Given the description of an element on the screen output the (x, y) to click on. 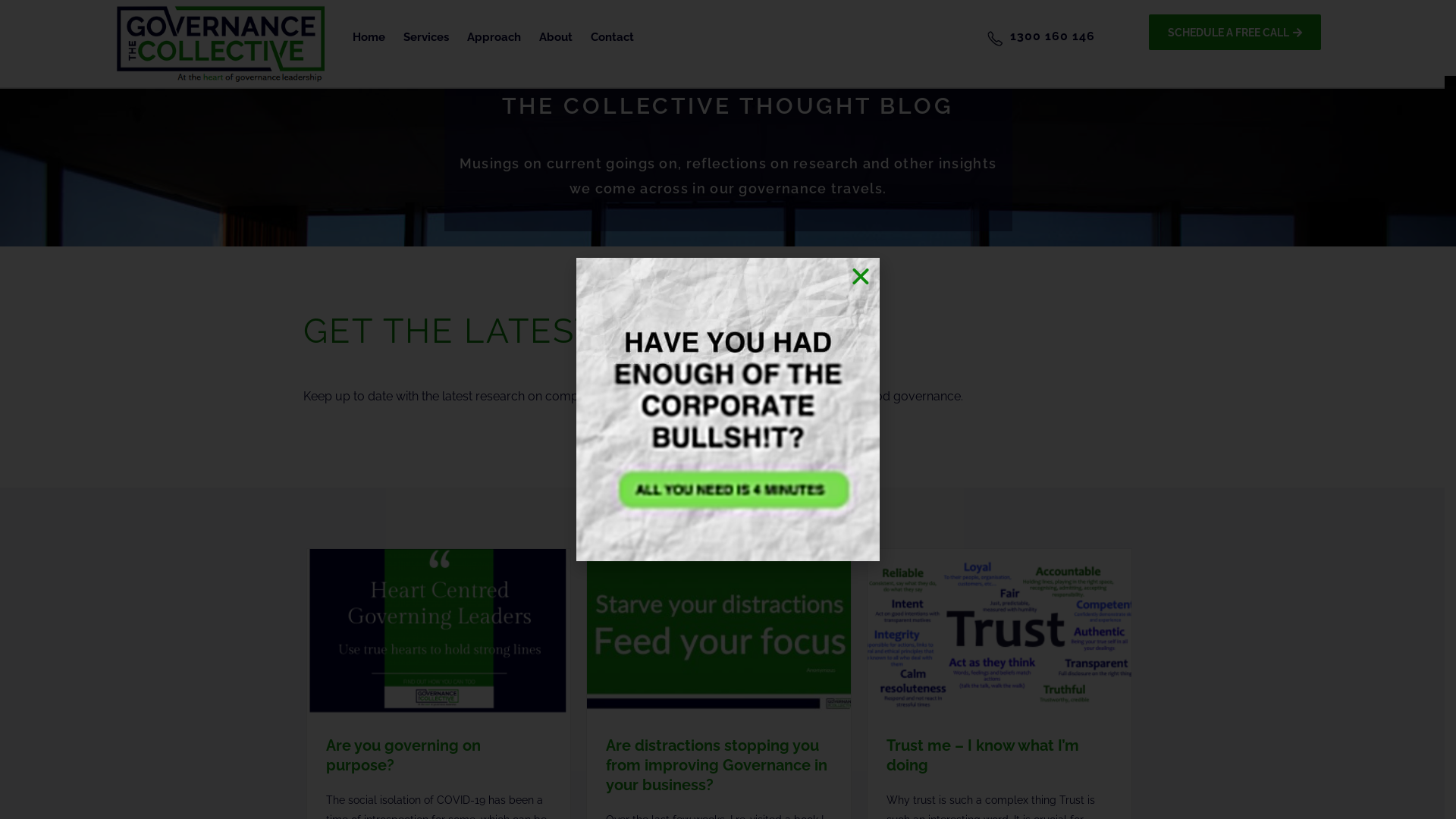
SCHEDULE A FREE CALL Element type: text (1234, 32)
Services Element type: text (426, 37)
Approach Element type: text (494, 37)
Contact Element type: text (612, 37)
Home Element type: text (368, 37)
About Element type: text (555, 37)
1300 160 146 Element type: text (1052, 35)
Are you governing on purpose? Element type: text (403, 755)
